Given the description of an element on the screen output the (x, y) to click on. 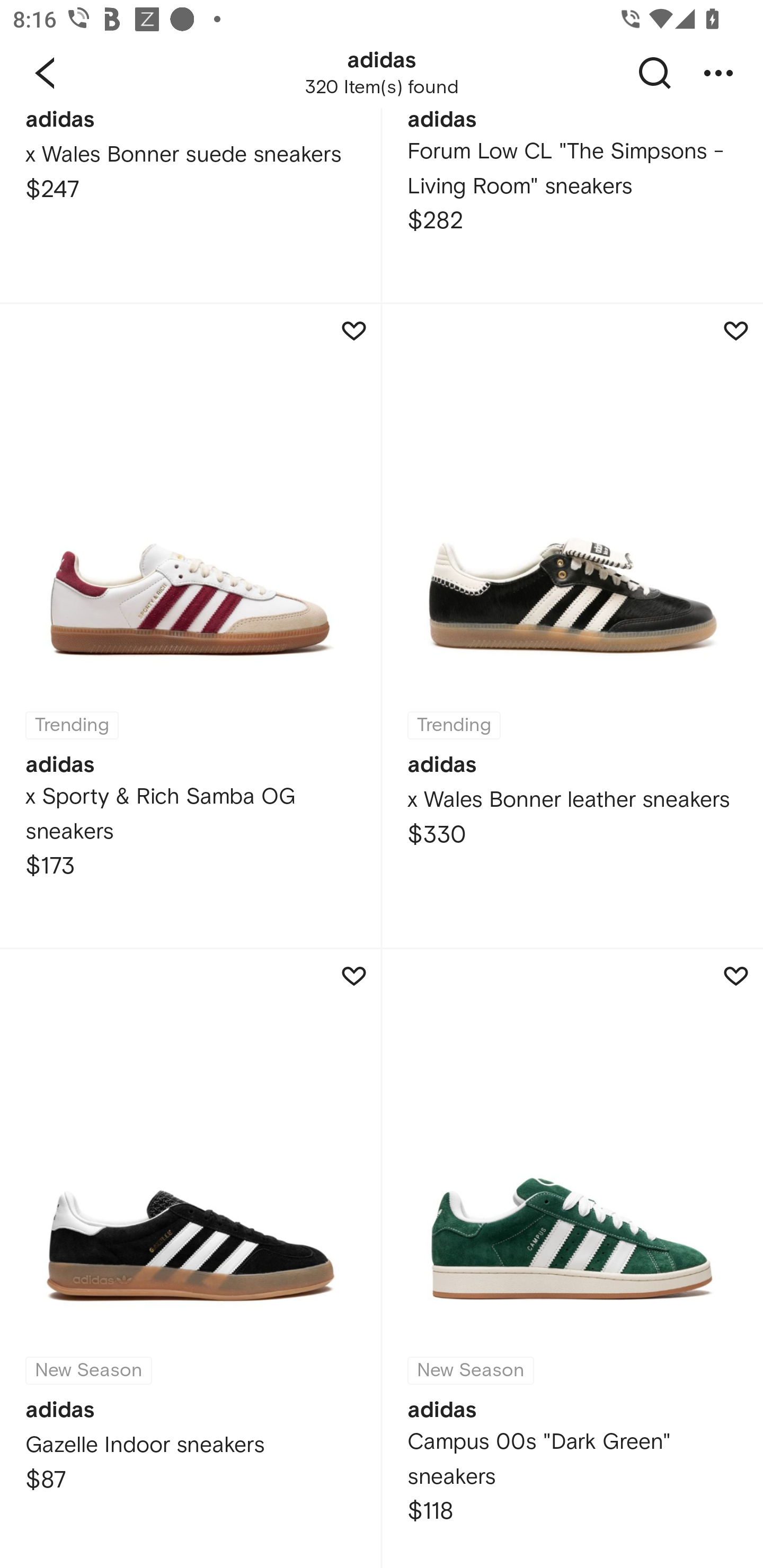
New Season adidas Gazelle Indoor sneakers $87 (190, 1258)
